Given the description of an element on the screen output the (x, y) to click on. 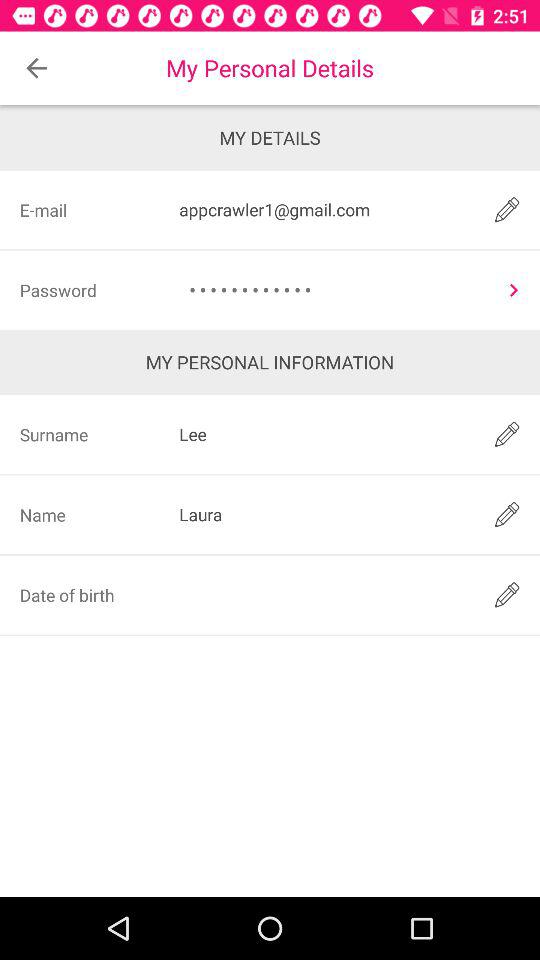
edit name (506, 514)
